Given the description of an element on the screen output the (x, y) to click on. 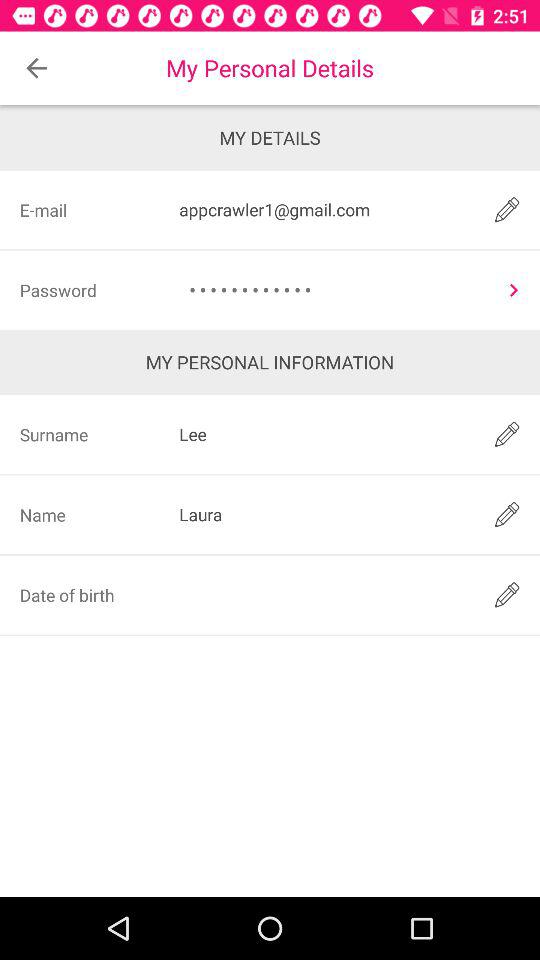
edit name (506, 514)
